Given the description of an element on the screen output the (x, y) to click on. 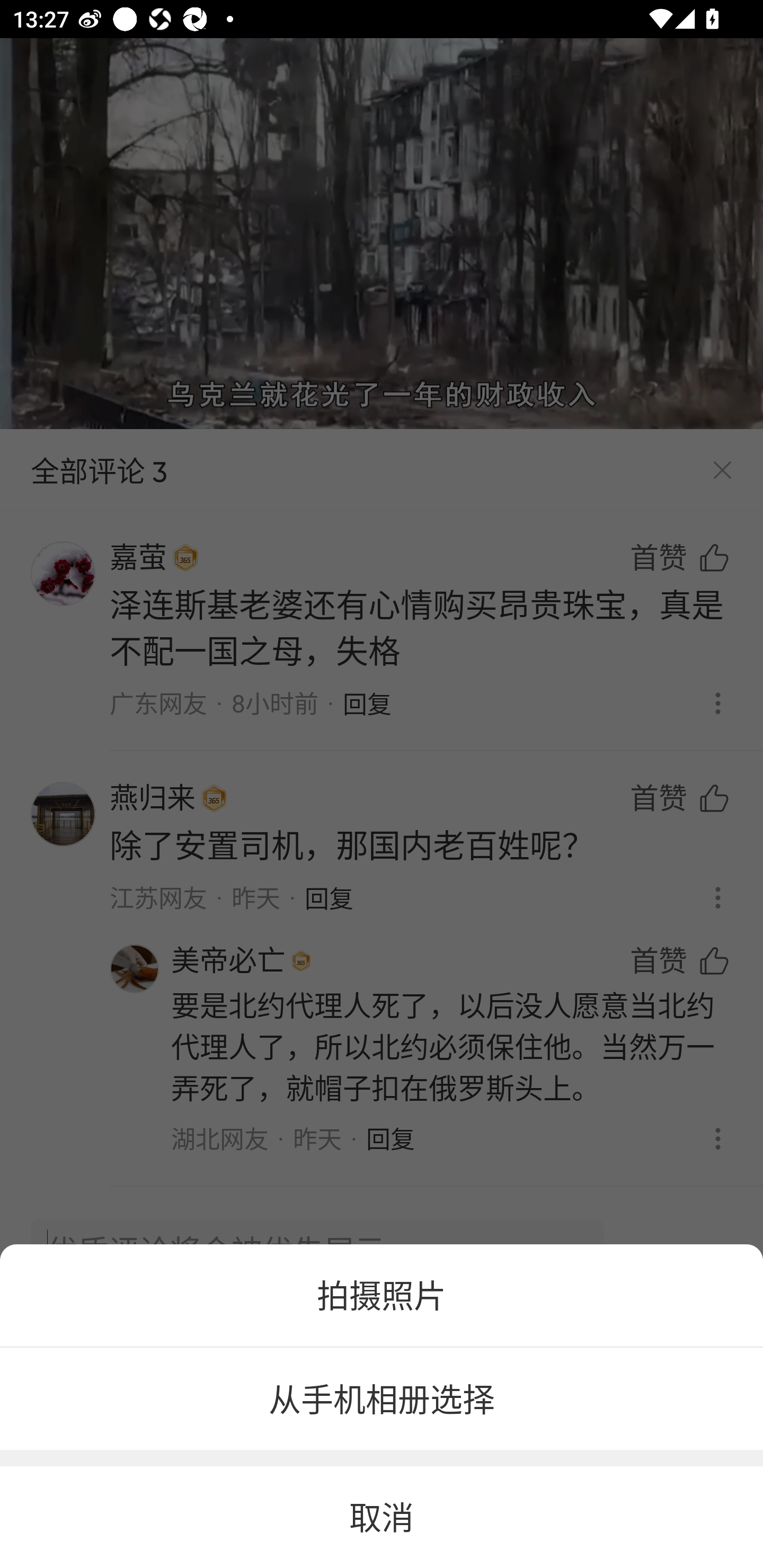
拍摄照片 (381, 1294)
从手机相册选择 (381, 1399)
取消 (381, 1517)
